Given the description of an element on the screen output the (x, y) to click on. 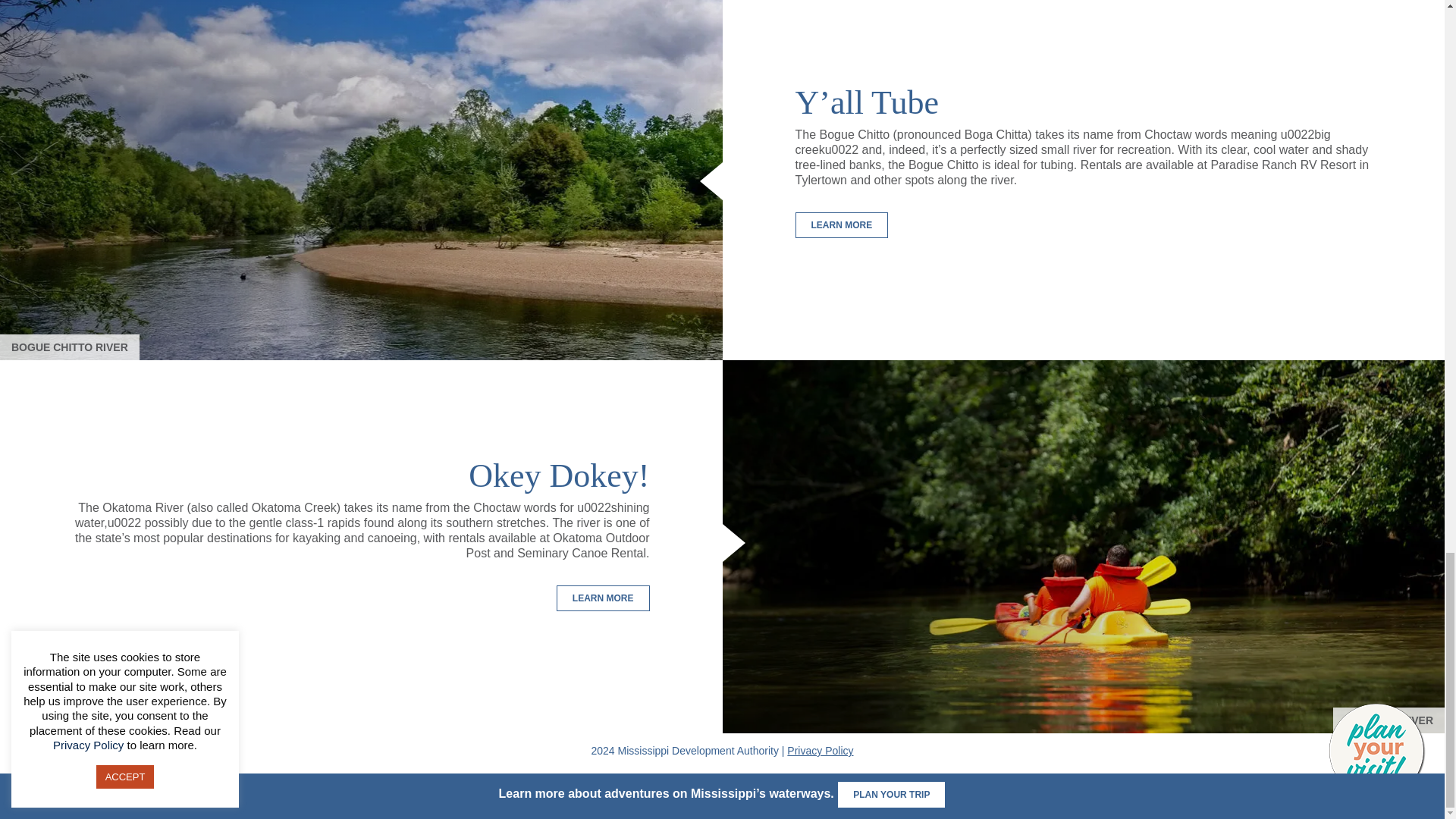
LEARN MORE (841, 225)
Privacy Policy (820, 750)
LEARN MORE (602, 597)
